Given the description of an element on the screen output the (x, y) to click on. 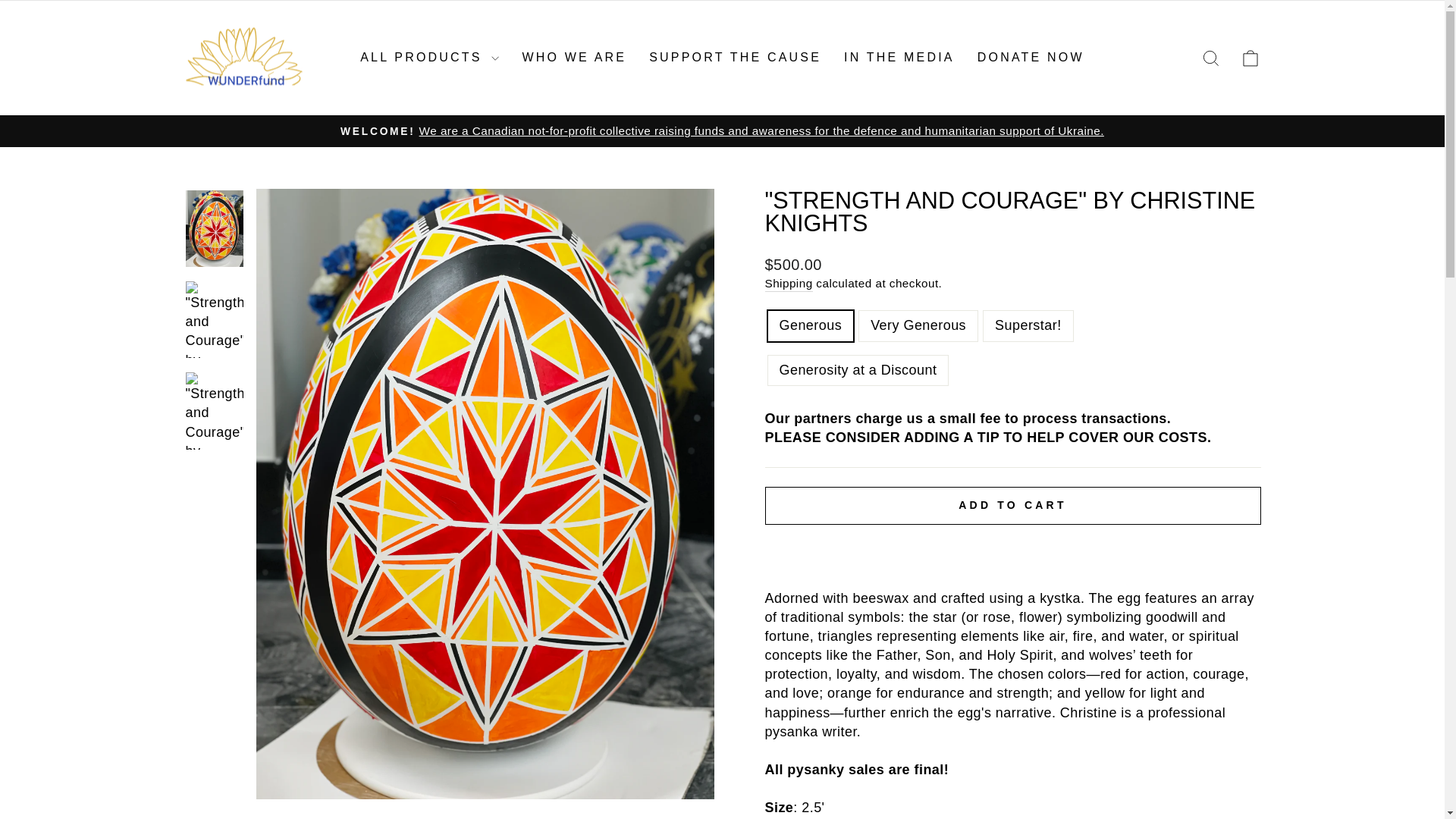
ICON-SEARCH (1210, 57)
ICON-BAG-MINIMAL (1249, 57)
